Given the description of an element on the screen output the (x, y) to click on. 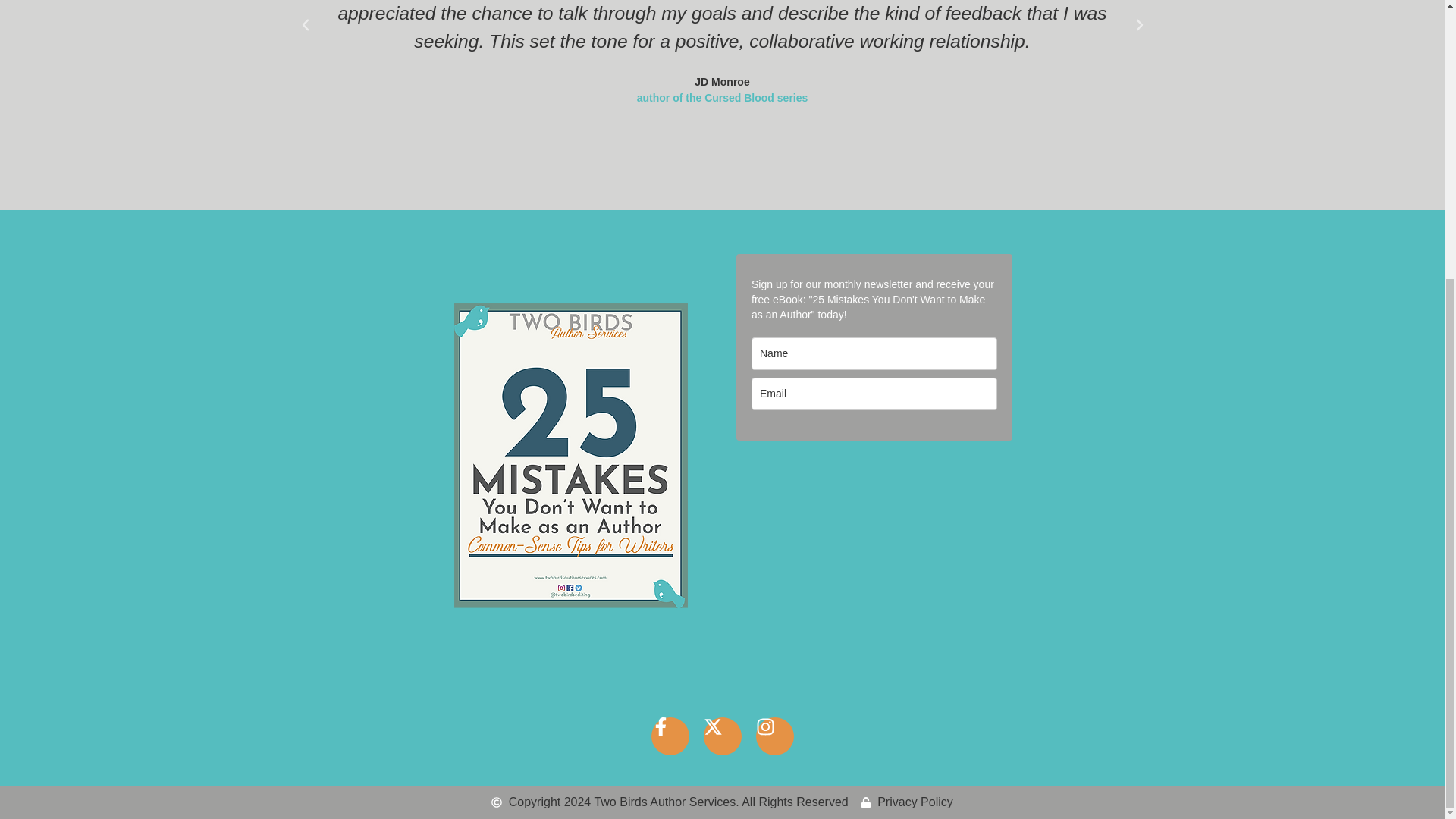
Privacy Policy (906, 802)
Embedded Content (873, 452)
